Given the description of an element on the screen output the (x, y) to click on. 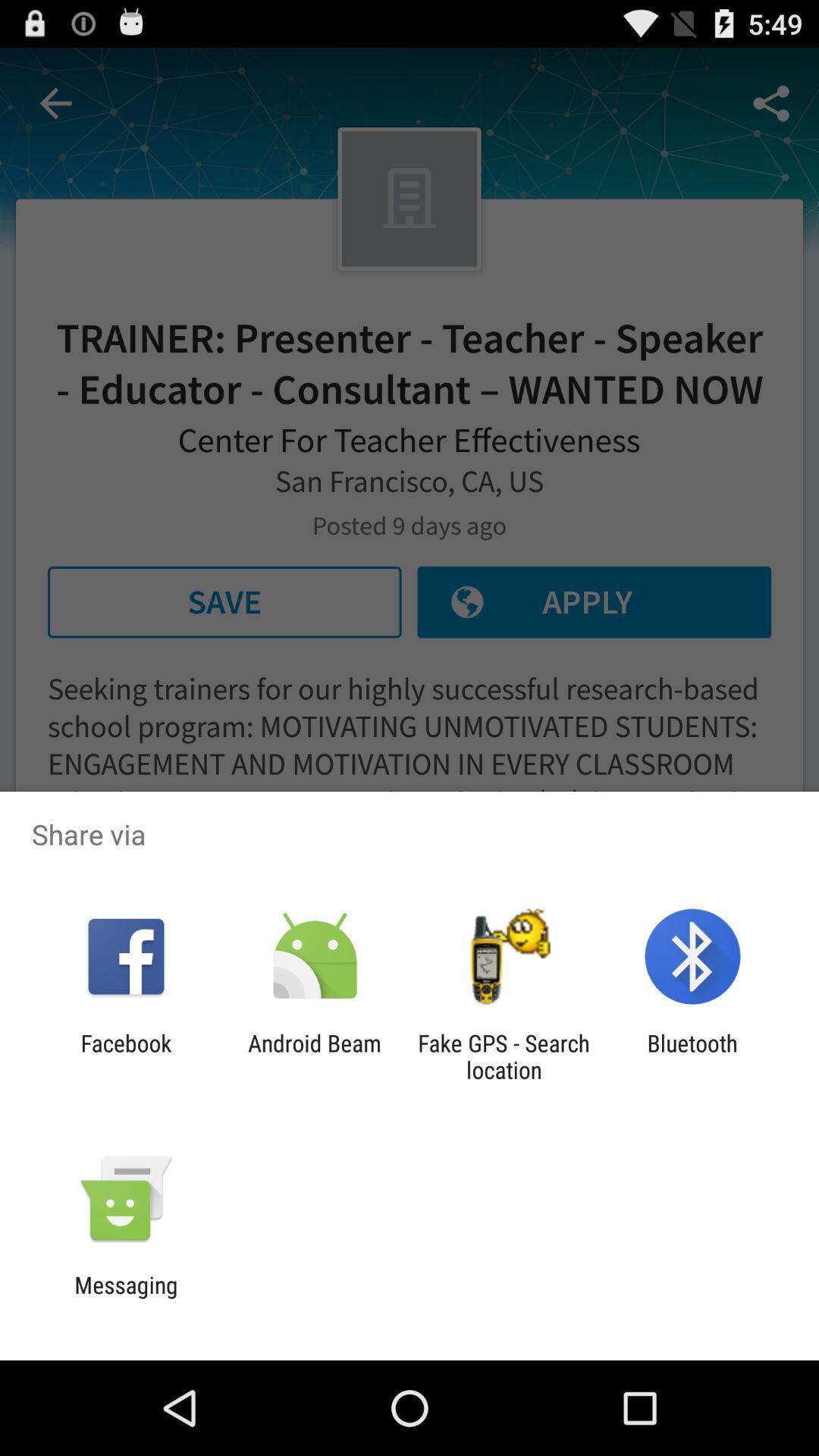
turn off item at the bottom right corner (692, 1056)
